Given the description of an element on the screen output the (x, y) to click on. 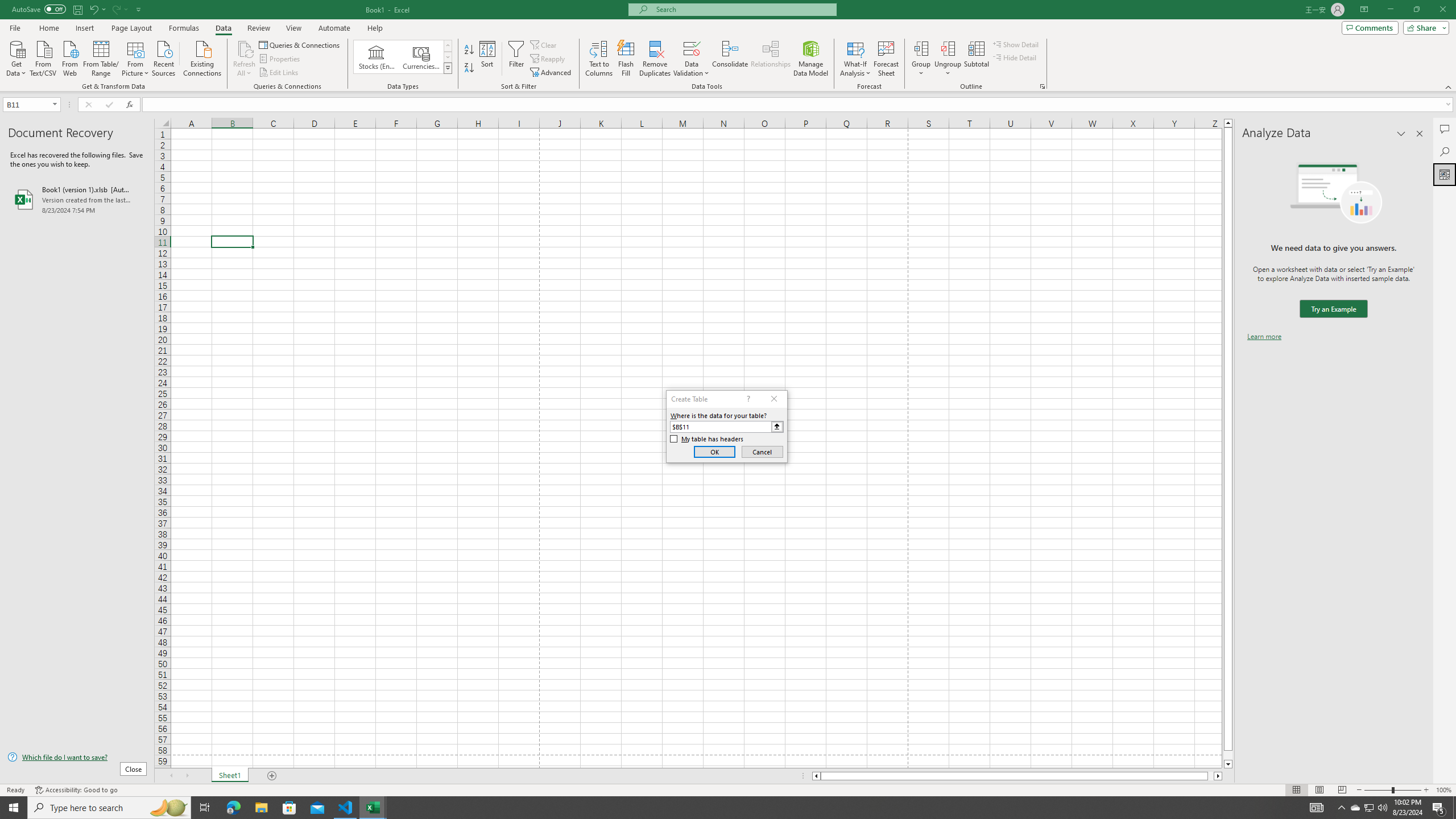
We need data to give you answers. Try an Example (1333, 308)
